Given the description of an element on the screen output the (x, y) to click on. 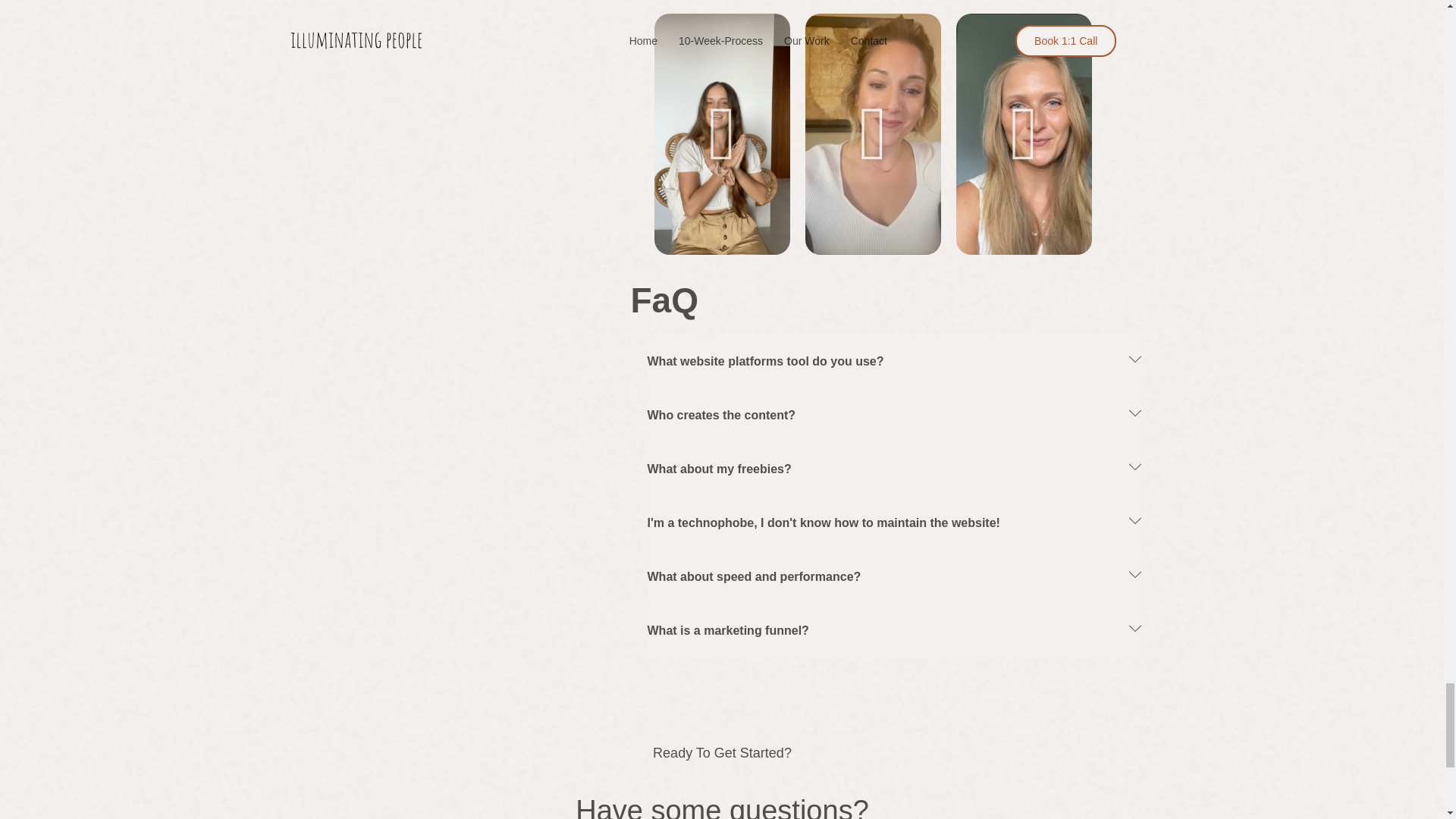
What website platforms tool do you use? (765, 360)
Who creates the content? (721, 414)
